Given the description of an element on the screen output the (x, y) to click on. 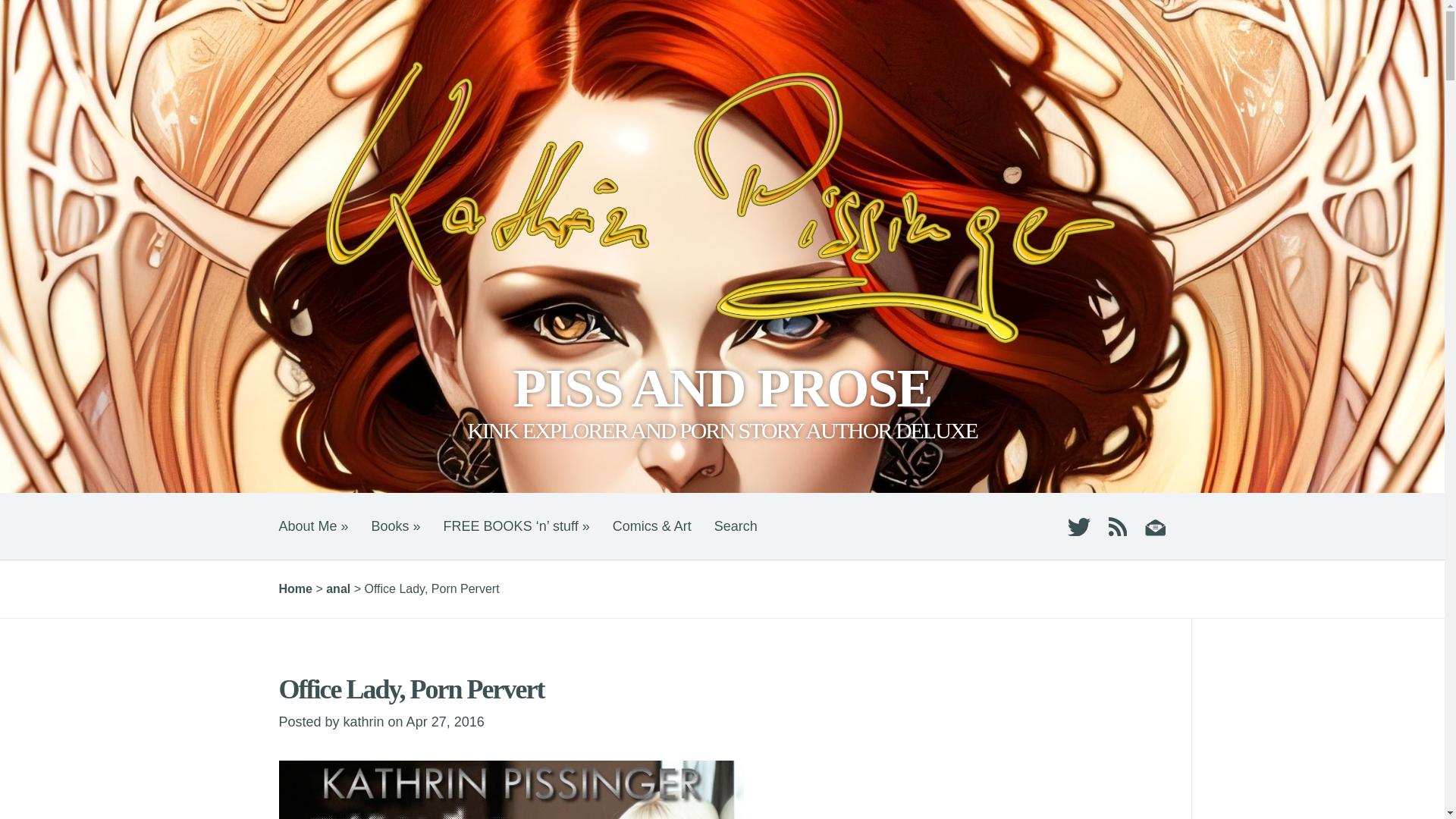
Posts by kathrin (363, 721)
